Given the description of an element on the screen output the (x, y) to click on. 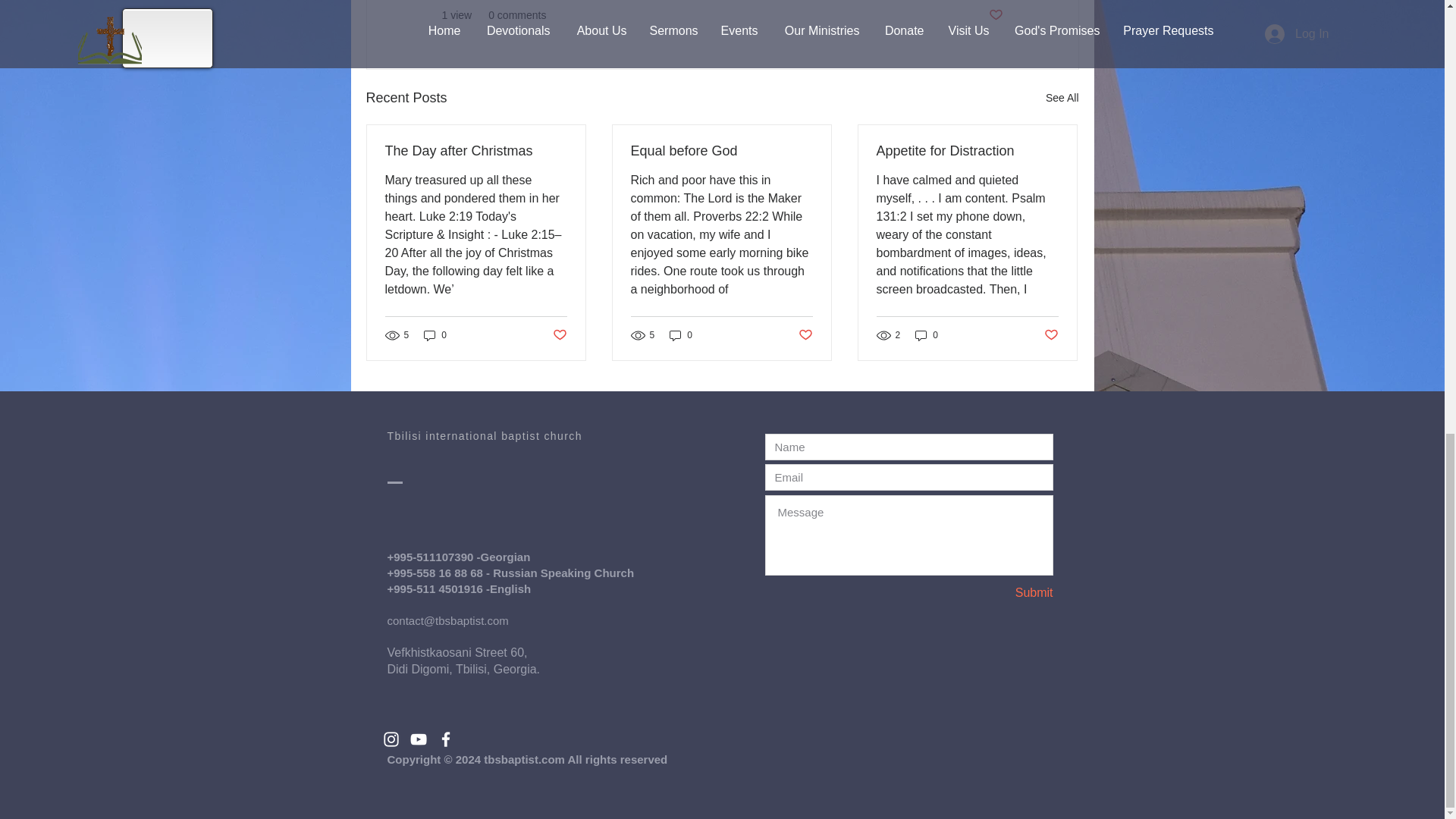
The Day after Christmas (476, 150)
0 (435, 334)
See All (1061, 97)
Post not marked as liked (804, 335)
Post not marked as liked (558, 335)
0 (681, 334)
Appetite for Distraction (967, 150)
Post not marked as liked (995, 15)
Equal before God (721, 150)
